Given the description of an element on the screen output the (x, y) to click on. 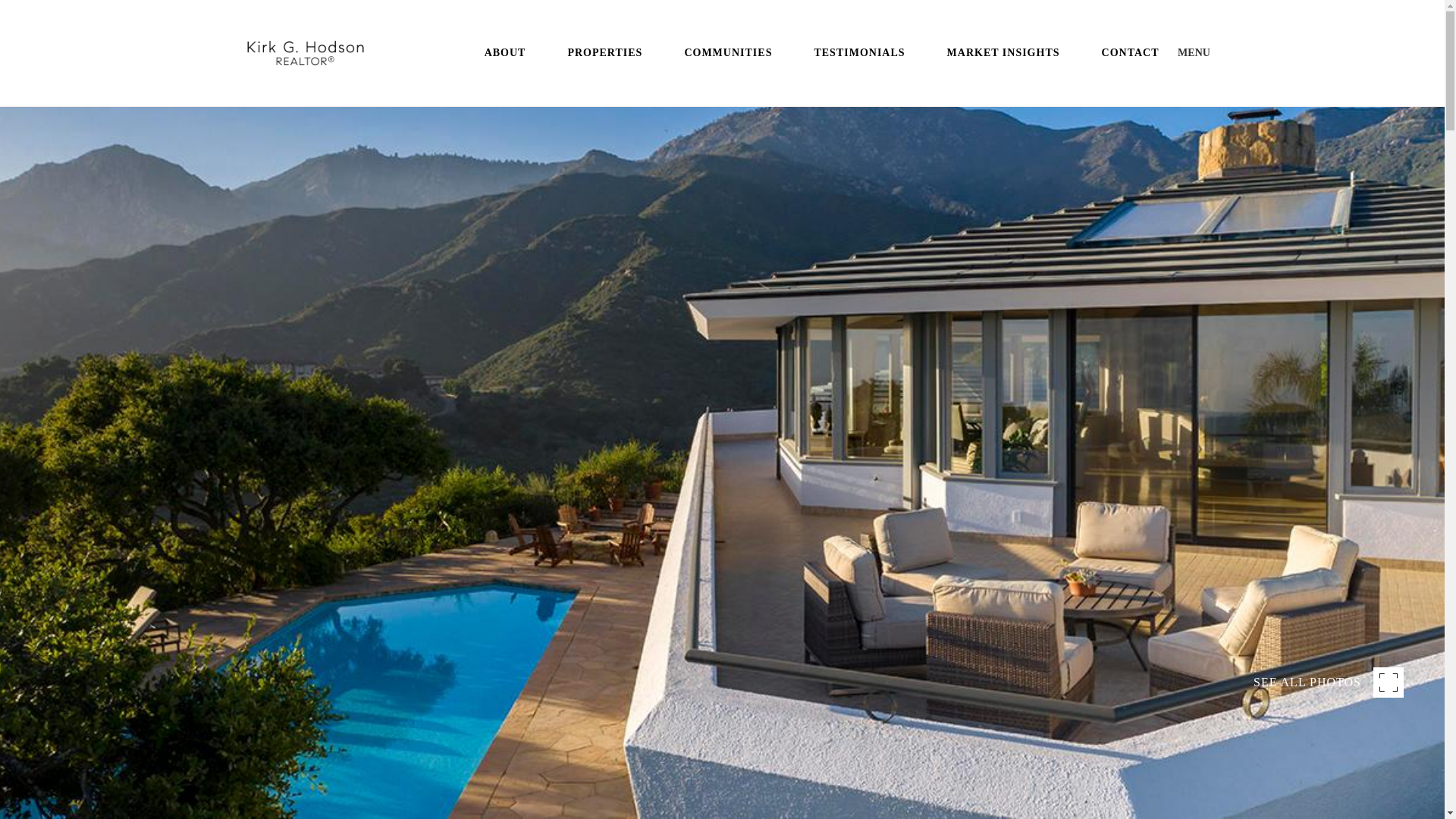
COMMUNITIES (727, 53)
TESTIMONIALS (858, 53)
CONTACT (1130, 53)
ABOUT (504, 53)
